Given the description of an element on the screen output the (x, y) to click on. 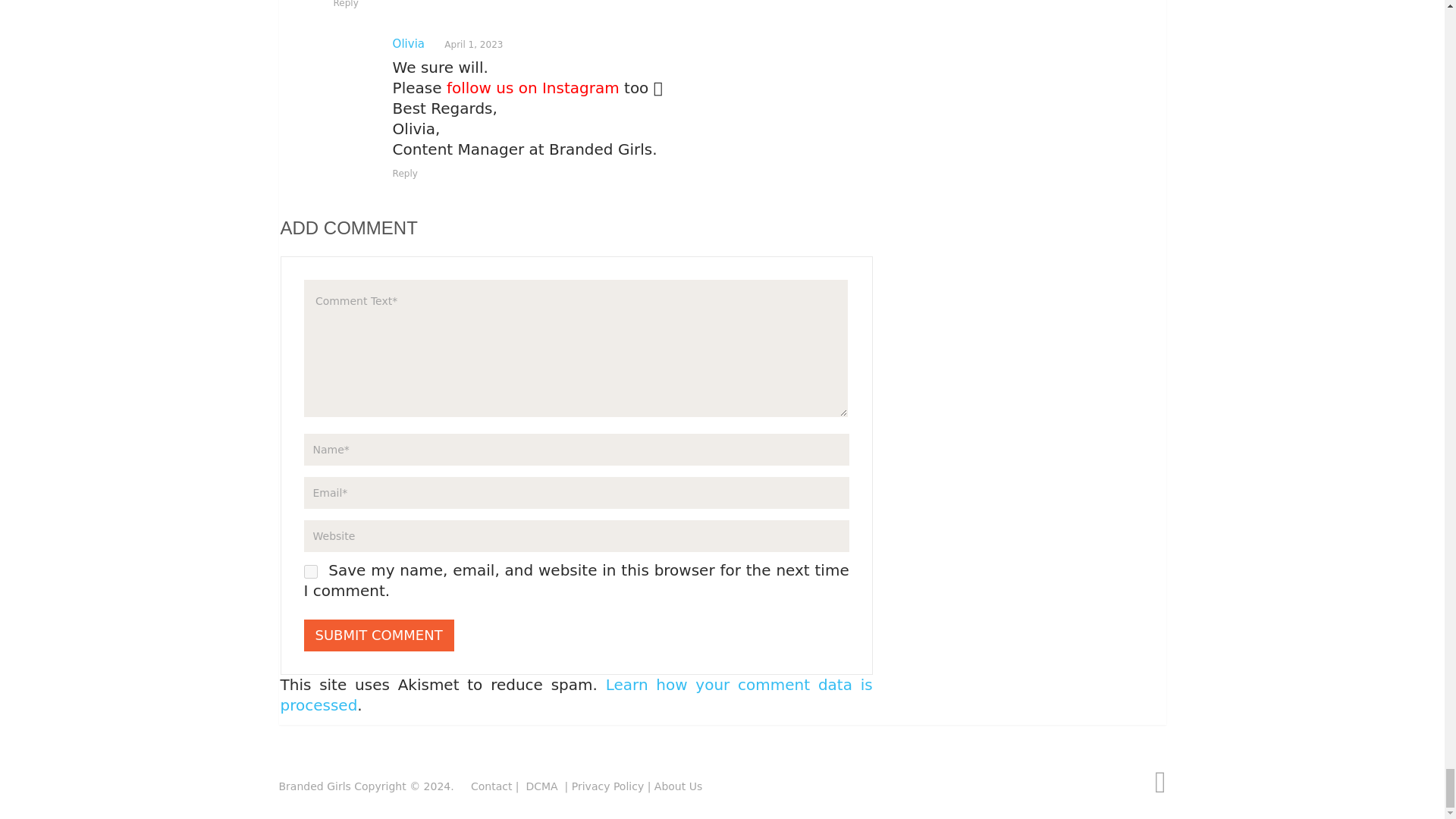
Submit Comment (377, 635)
yes (309, 571)
